Given the description of an element on the screen output the (x, y) to click on. 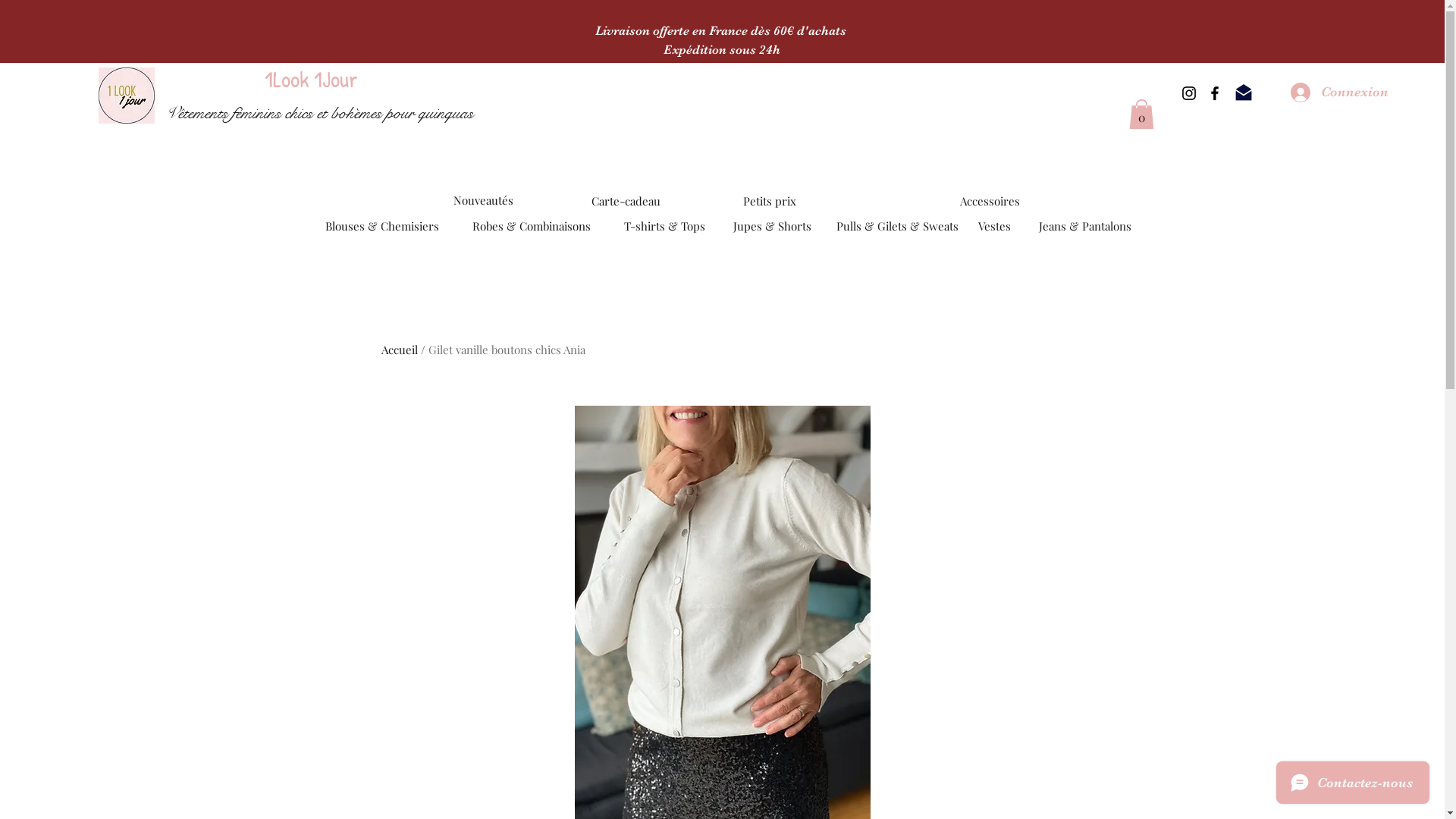
Carte-cadeau Element type: text (625, 200)
Petits prix Element type: text (768, 200)
Jeans & Pantalons Element type: text (1084, 225)
Robes & Combinaisons Element type: text (530, 225)
1Look 1Jour Element type: text (310, 78)
Pulls & Gilets & Sweats Element type: text (896, 225)
Gilet vanille boutons chics Ania Element type: text (505, 349)
Vestes Element type: text (994, 225)
1look1jur Element type: hover (126, 95)
Accueil Element type: text (398, 349)
Accessoires Element type: text (990, 200)
T-shirts & Tops Element type: text (663, 225)
0 Element type: text (1141, 113)
Connexion Element type: text (1339, 92)
Jupes & Shorts Element type: text (771, 225)
Blouses & Chemisiers Element type: text (381, 225)
